Given the description of an element on the screen output the (x, y) to click on. 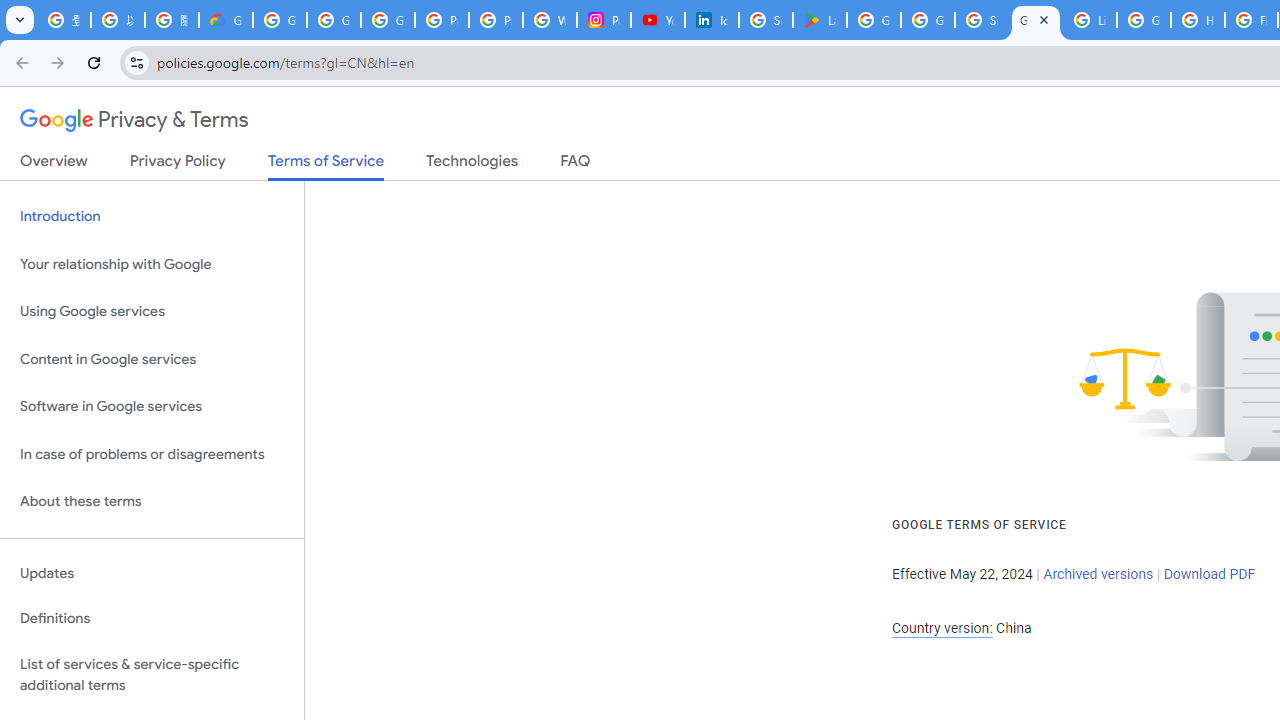
Software in Google services (152, 407)
YouTube Culture & Trends - On The Rise: Handcam Videos (657, 20)
Country version: (942, 628)
